Given the description of an element on the screen output the (x, y) to click on. 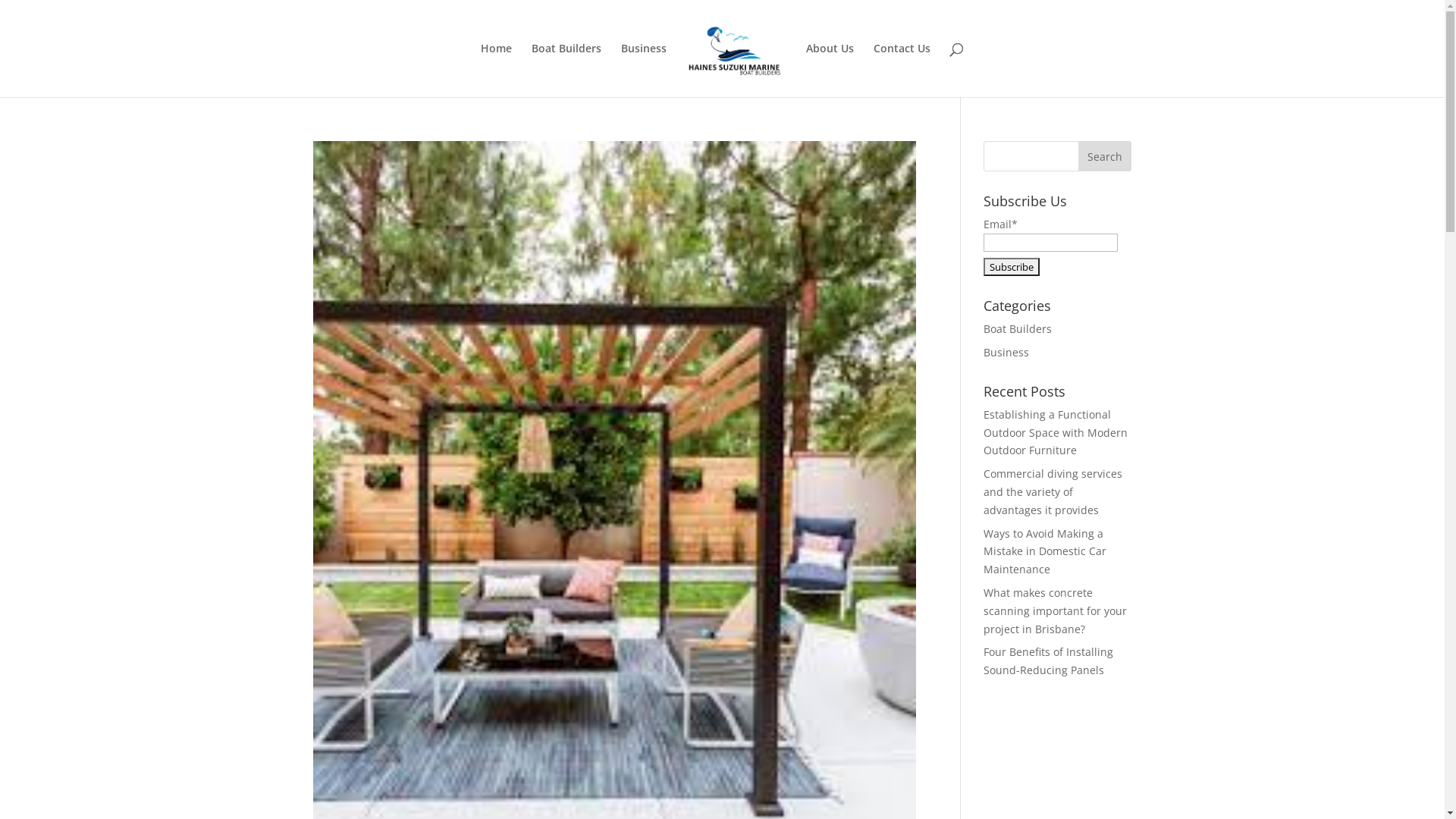
Boat Builders Element type: text (566, 70)
Contact Us Element type: text (901, 70)
Ways to Avoid Making a Mistake in Domestic Car Maintenance Element type: text (1044, 551)
Search Element type: text (1104, 156)
Subscribe Element type: text (1011, 266)
Four Benefits of Installing Sound-Reducing Panels Element type: text (1048, 660)
Boat Builders Element type: text (1017, 328)
About Us Element type: text (829, 70)
Business Element type: text (1006, 352)
Home Element type: text (495, 70)
Business Element type: text (643, 70)
